Given the description of an element on the screen output the (x, y) to click on. 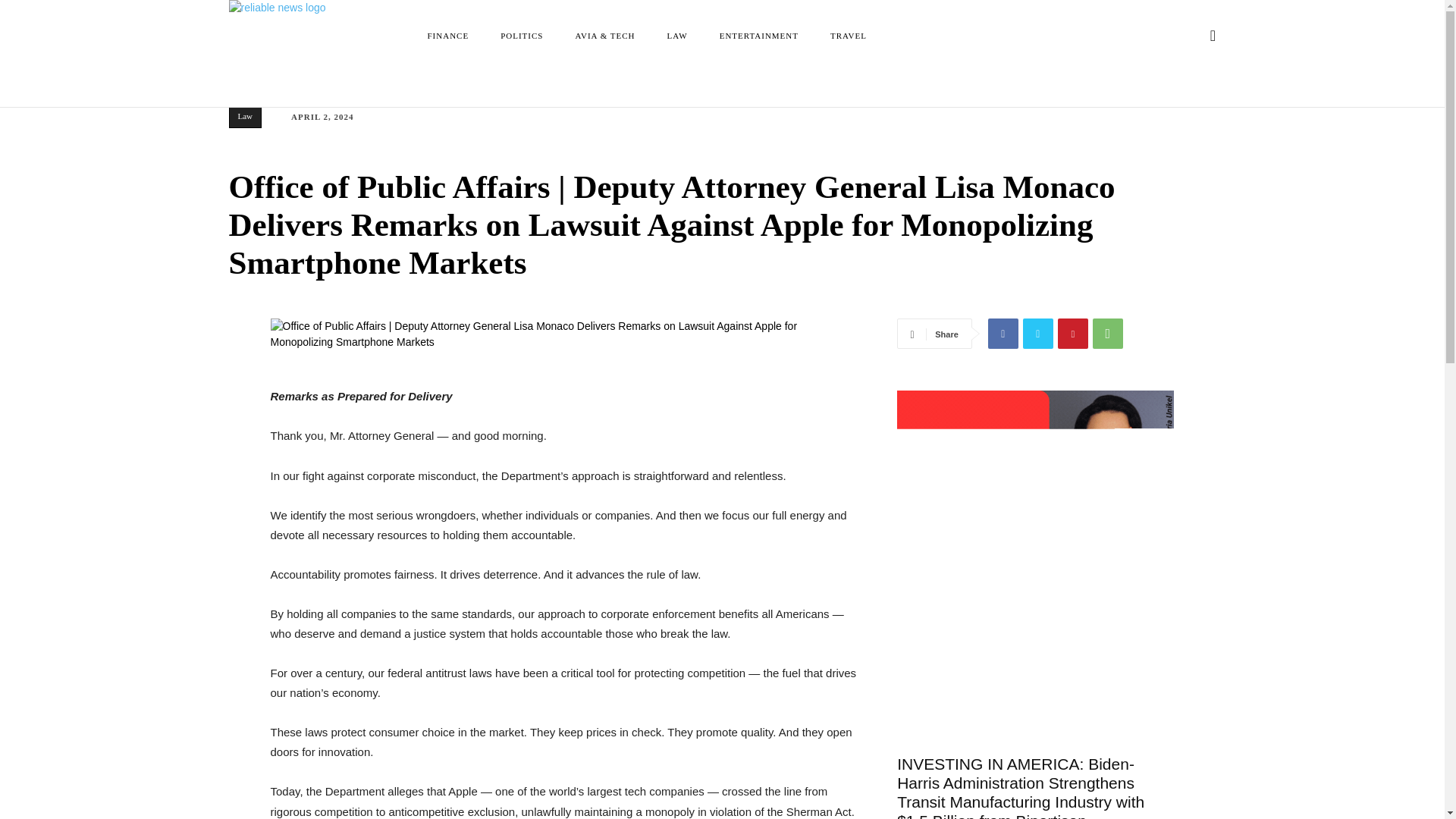
FINANCE (448, 35)
TRAVEL (848, 35)
Twitter (1037, 333)
Law (245, 116)
Facebook (1002, 333)
ENTERTAINMENT (759, 35)
POLITICS (521, 35)
WhatsApp (1107, 333)
Pinterest (1072, 333)
